Given the description of an element on the screen output the (x, y) to click on. 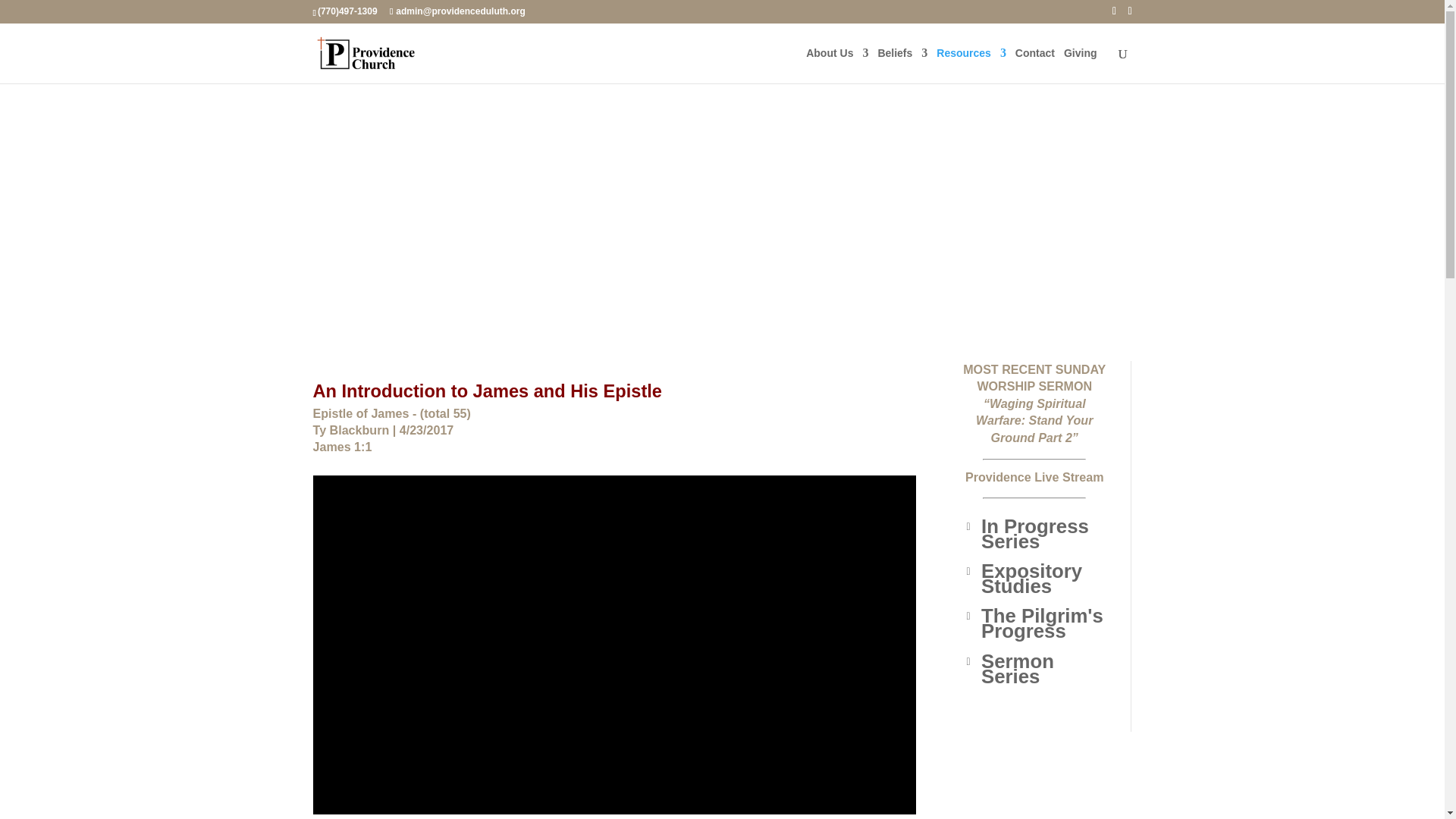
Resources (971, 65)
Beliefs (902, 65)
go to series - Epistle of James (391, 413)
About Us (836, 65)
